Given the description of an element on the screen output the (x, y) to click on. 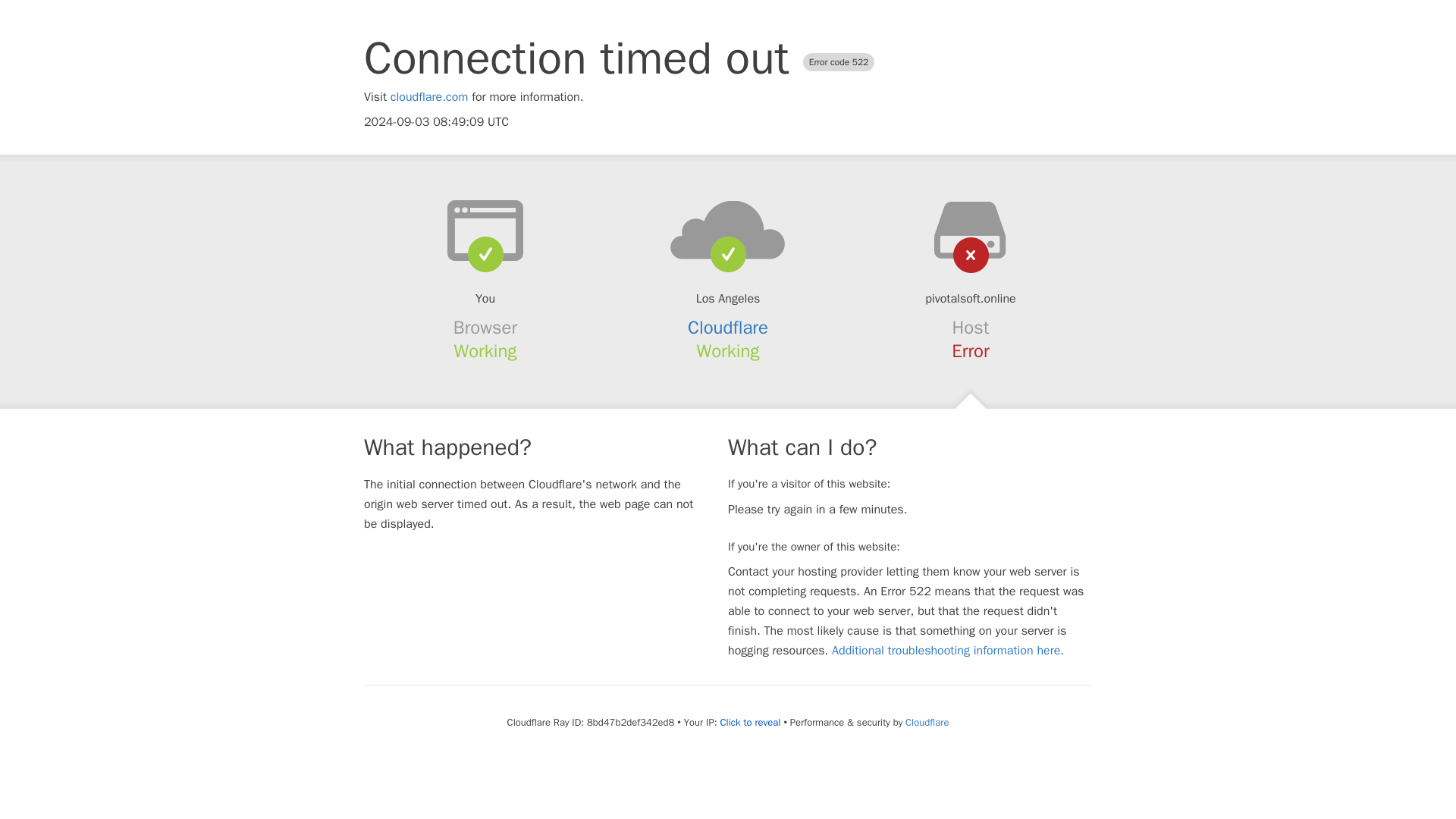
Click to reveal (750, 722)
Additional troubleshooting information here. (947, 650)
Cloudflare (727, 327)
cloudflare.com (429, 96)
Cloudflare (927, 721)
